Given the description of an element on the screen output the (x, y) to click on. 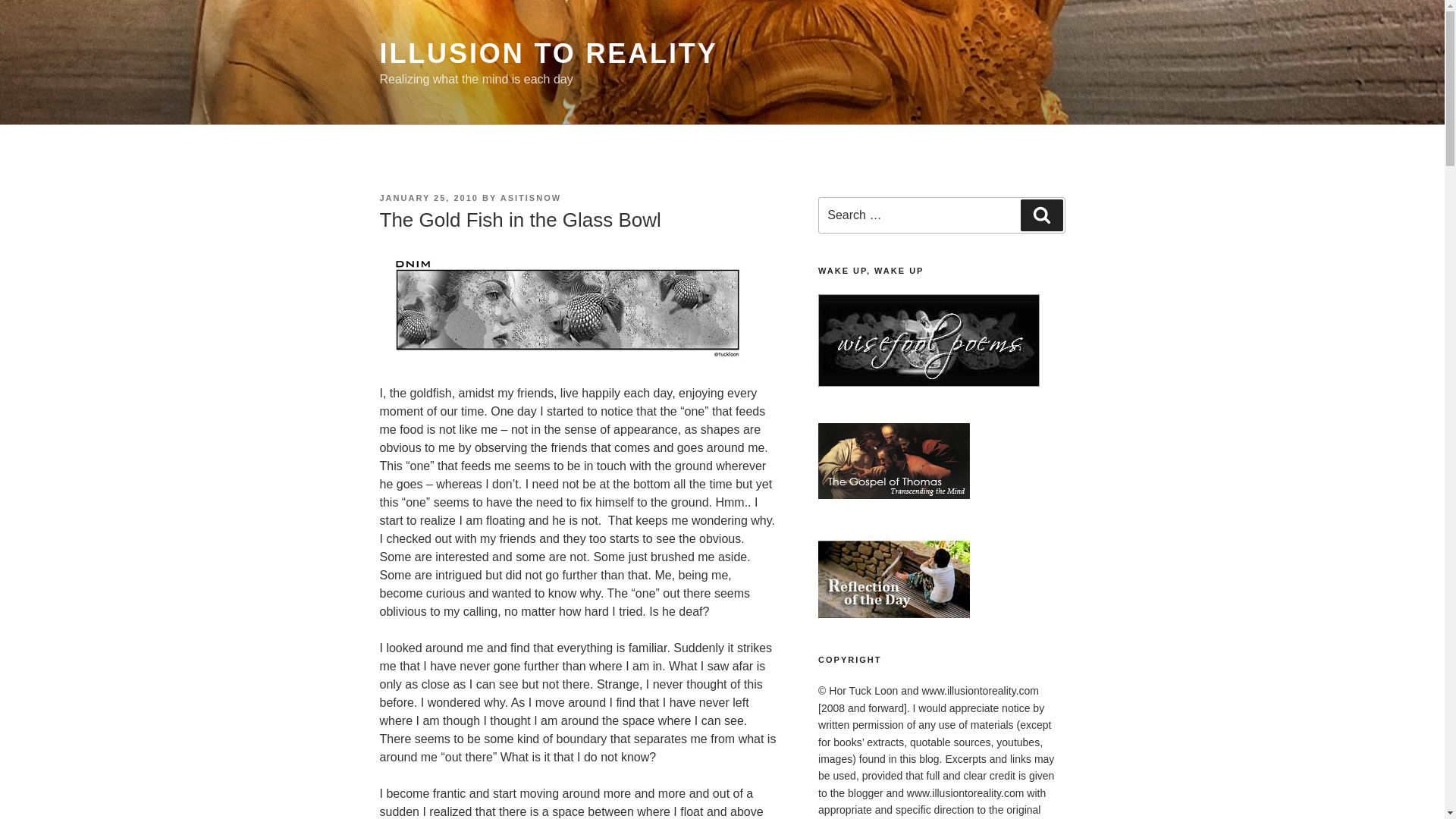
Search (1041, 214)
ILLUSION TO REALITY (547, 52)
13-lowres (568, 305)
ASITISNOW (530, 197)
JANUARY 25, 2010 (427, 197)
wake up, wake up (928, 382)
